Given the description of an element on the screen output the (x, y) to click on. 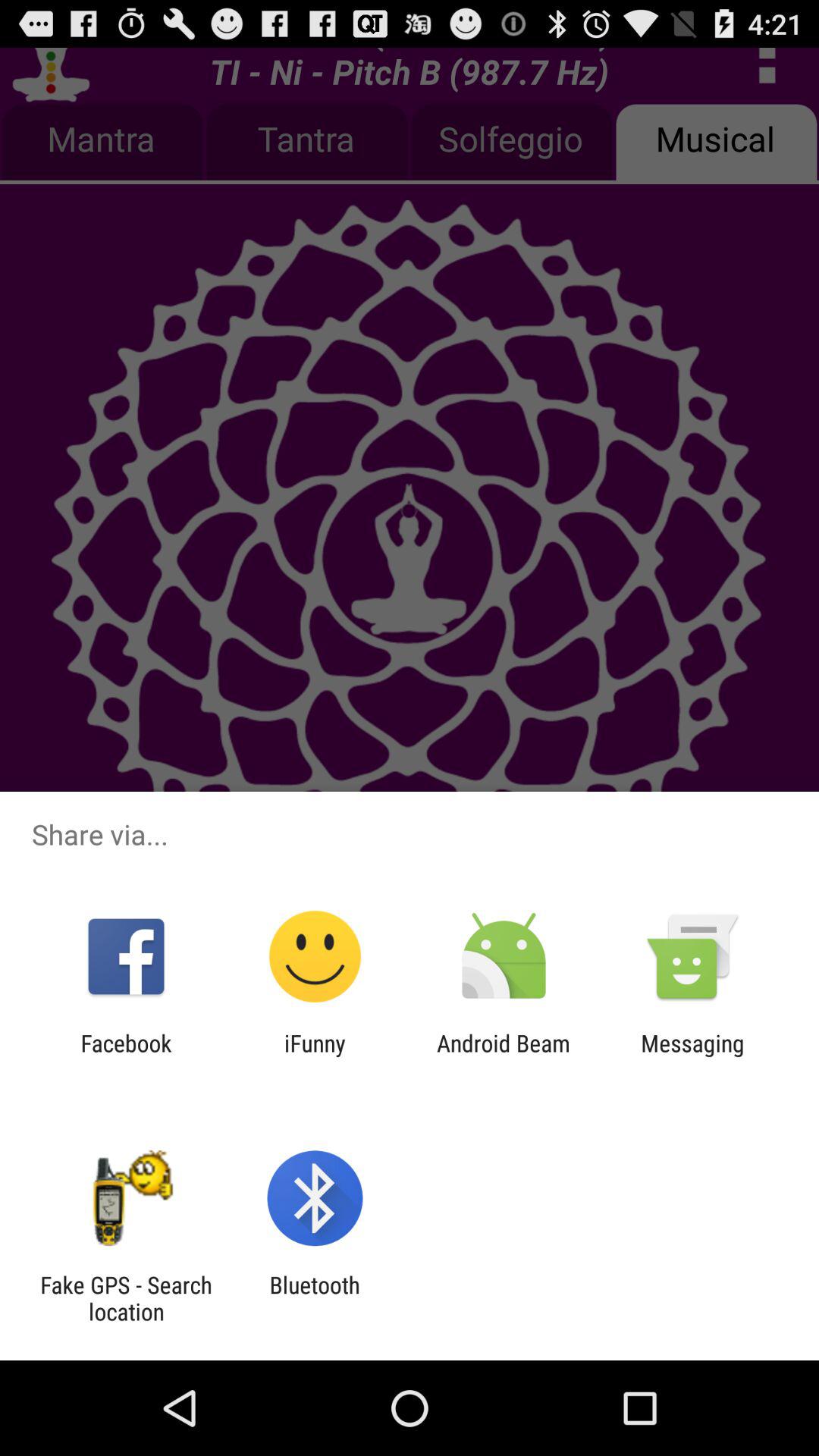
open icon to the left of the android beam icon (314, 1056)
